Given the description of an element on the screen output the (x, y) to click on. 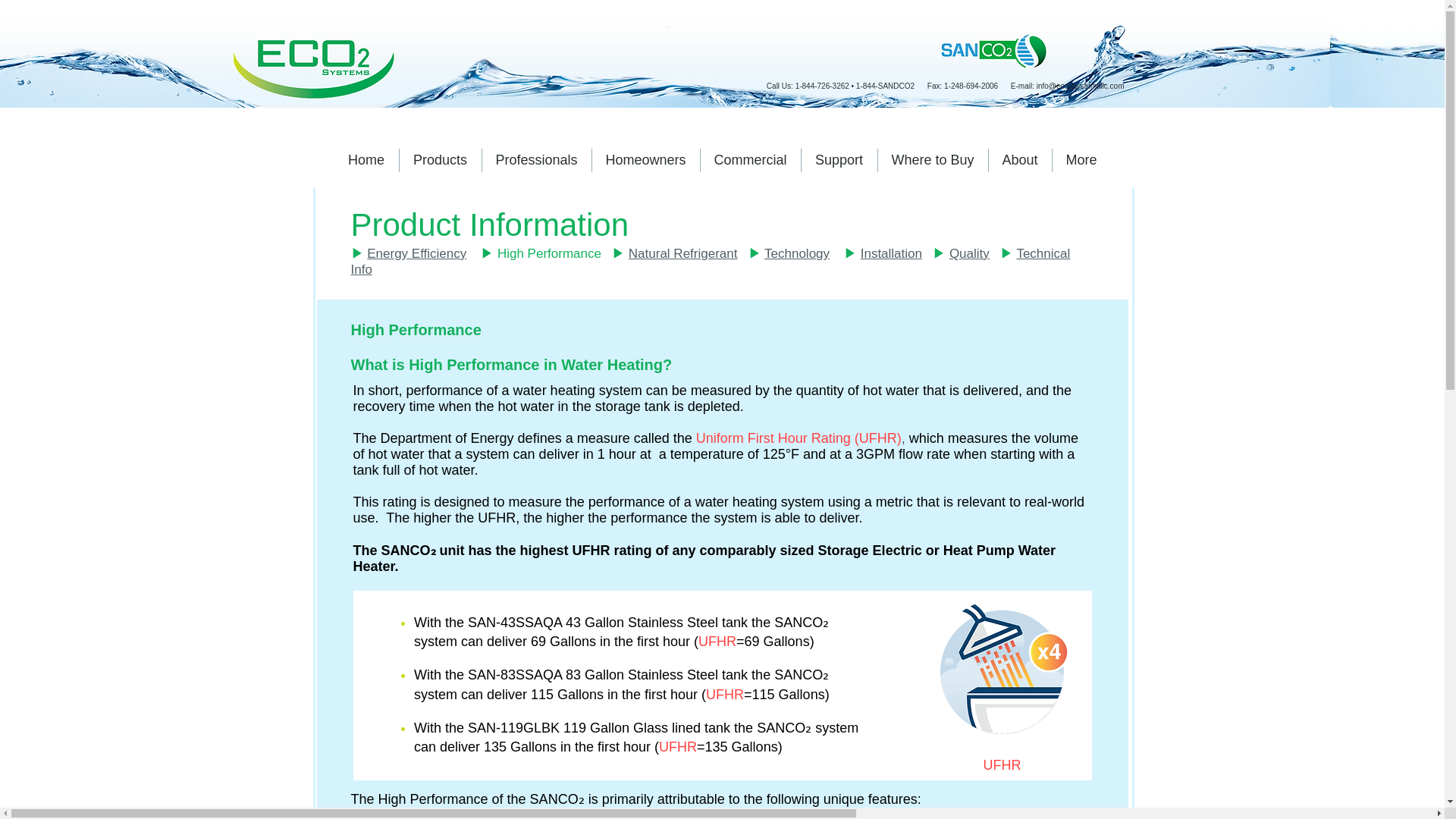
Energy Efficiency (415, 253)
Product Information (489, 224)
Natural Refrigerant (683, 253)
Technical Info (710, 261)
Quality (969, 253)
Homeowners (644, 159)
Home (365, 159)
Professionals (536, 159)
Technology (796, 253)
Commercial (750, 159)
